Given the description of an element on the screen output the (x, y) to click on. 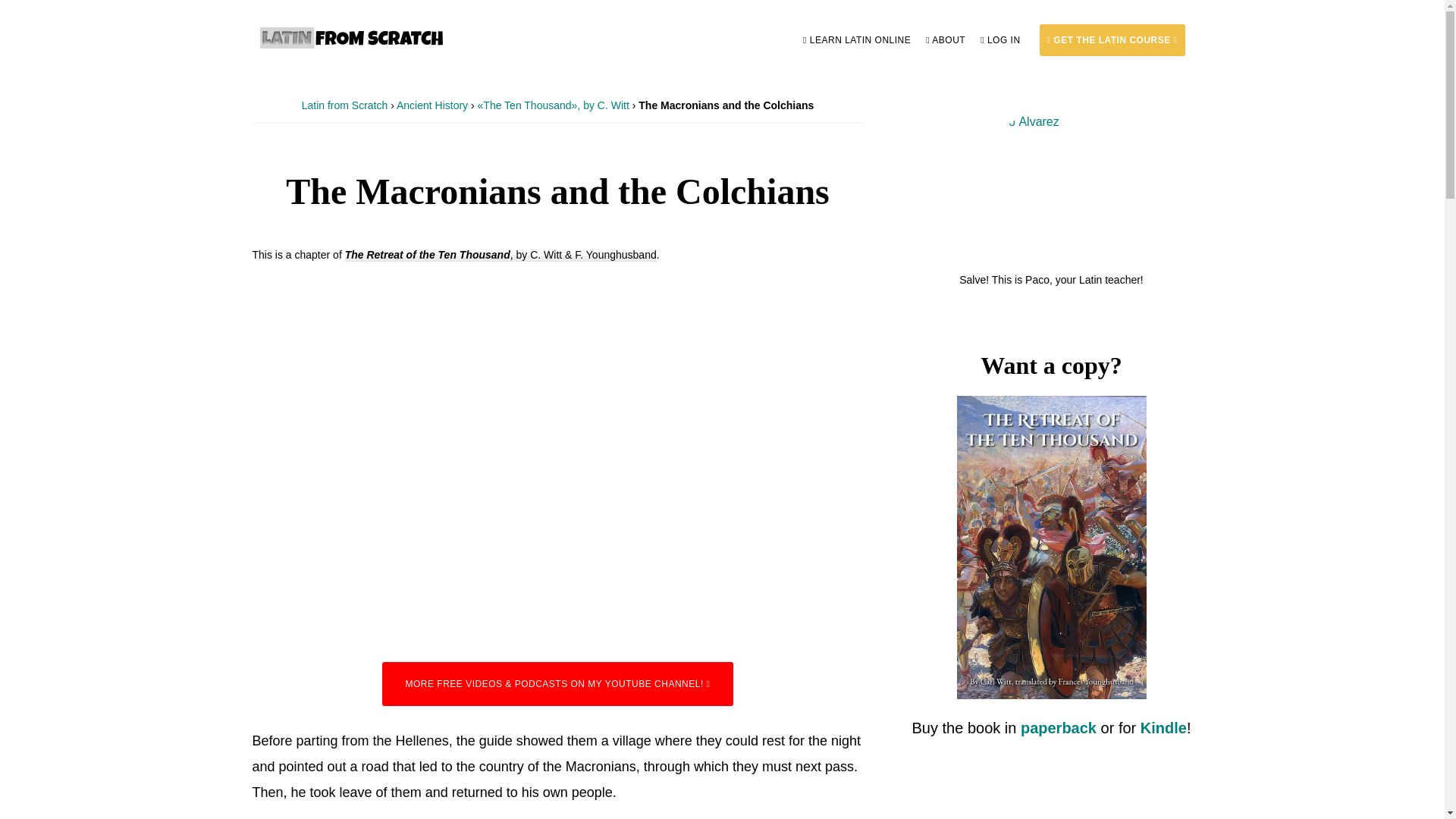
Kindle (1163, 727)
paperback (1058, 727)
Ancient History (431, 105)
Latin from Scratch (344, 105)
